Given the description of an element on the screen output the (x, y) to click on. 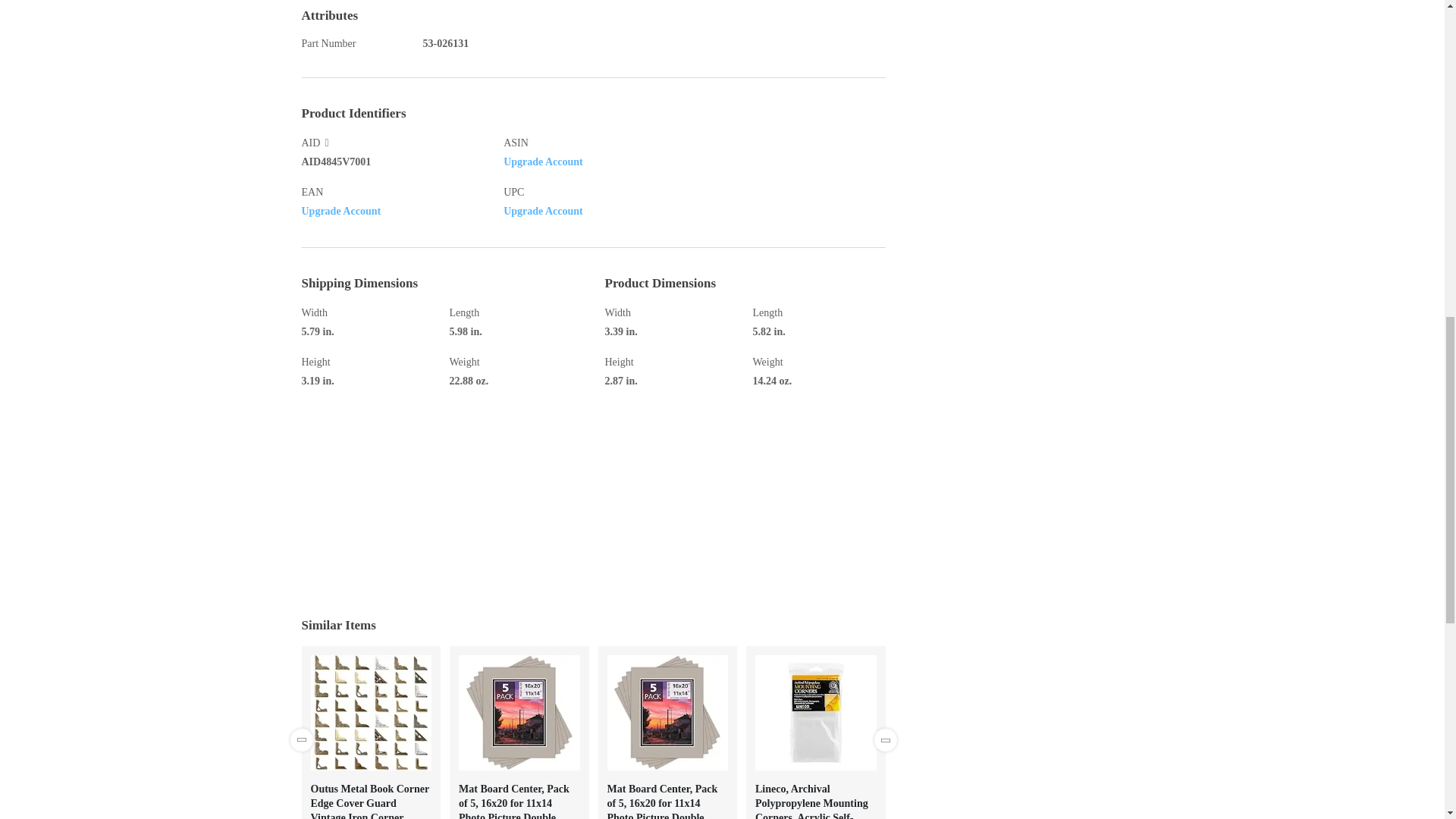
Upgrade Account (341, 210)
Upgrade Account (543, 161)
Upgrade Account (543, 210)
